Given the description of an element on the screen output the (x, y) to click on. 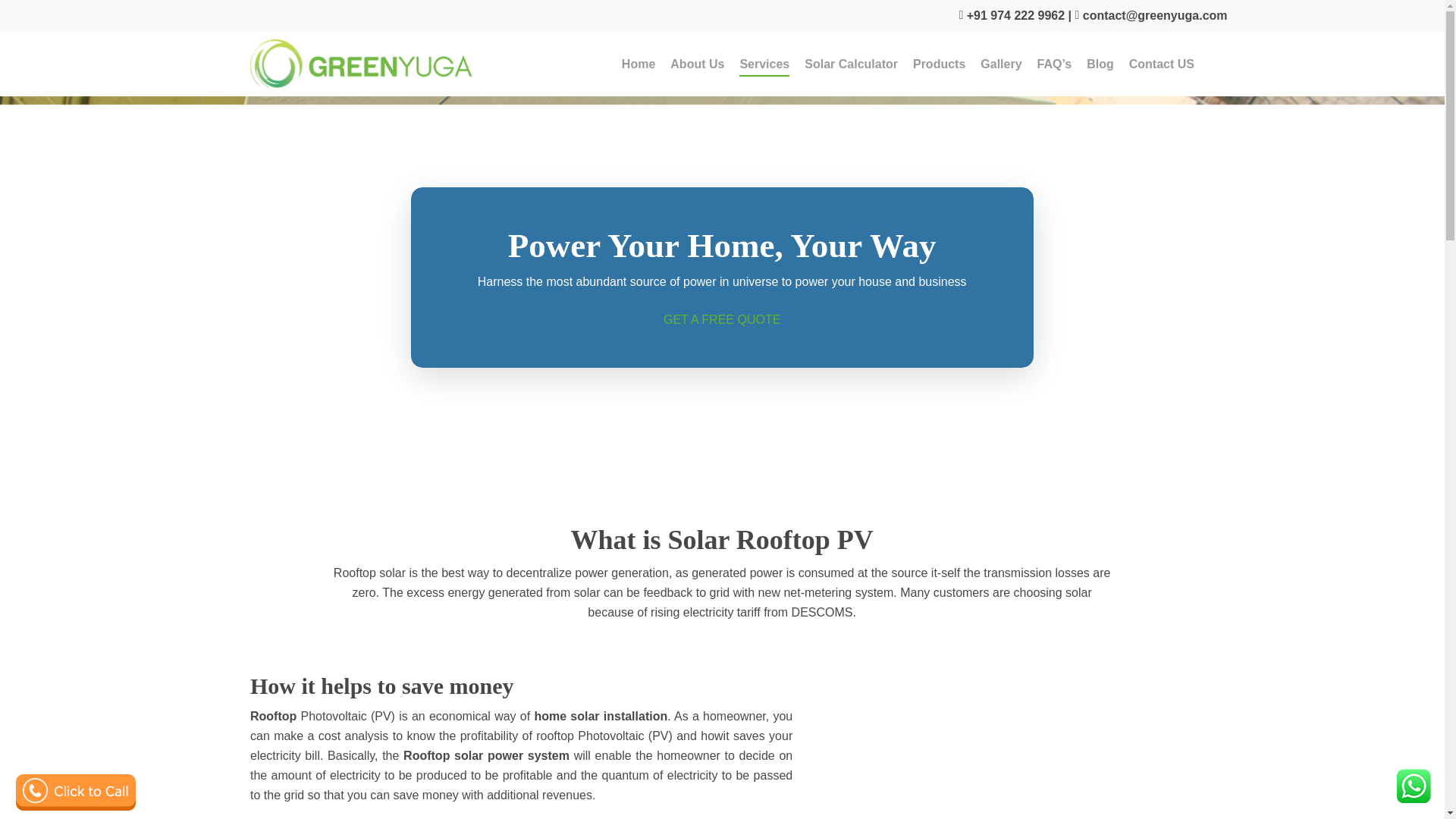
Solar Calculator (851, 64)
Blog (1099, 64)
GET A FREE QUOTE (721, 318)
About Us (696, 64)
Home (638, 64)
Services (764, 64)
Products (938, 64)
Gallery (1000, 64)
Contact US (1161, 64)
